Given the description of an element on the screen output the (x, y) to click on. 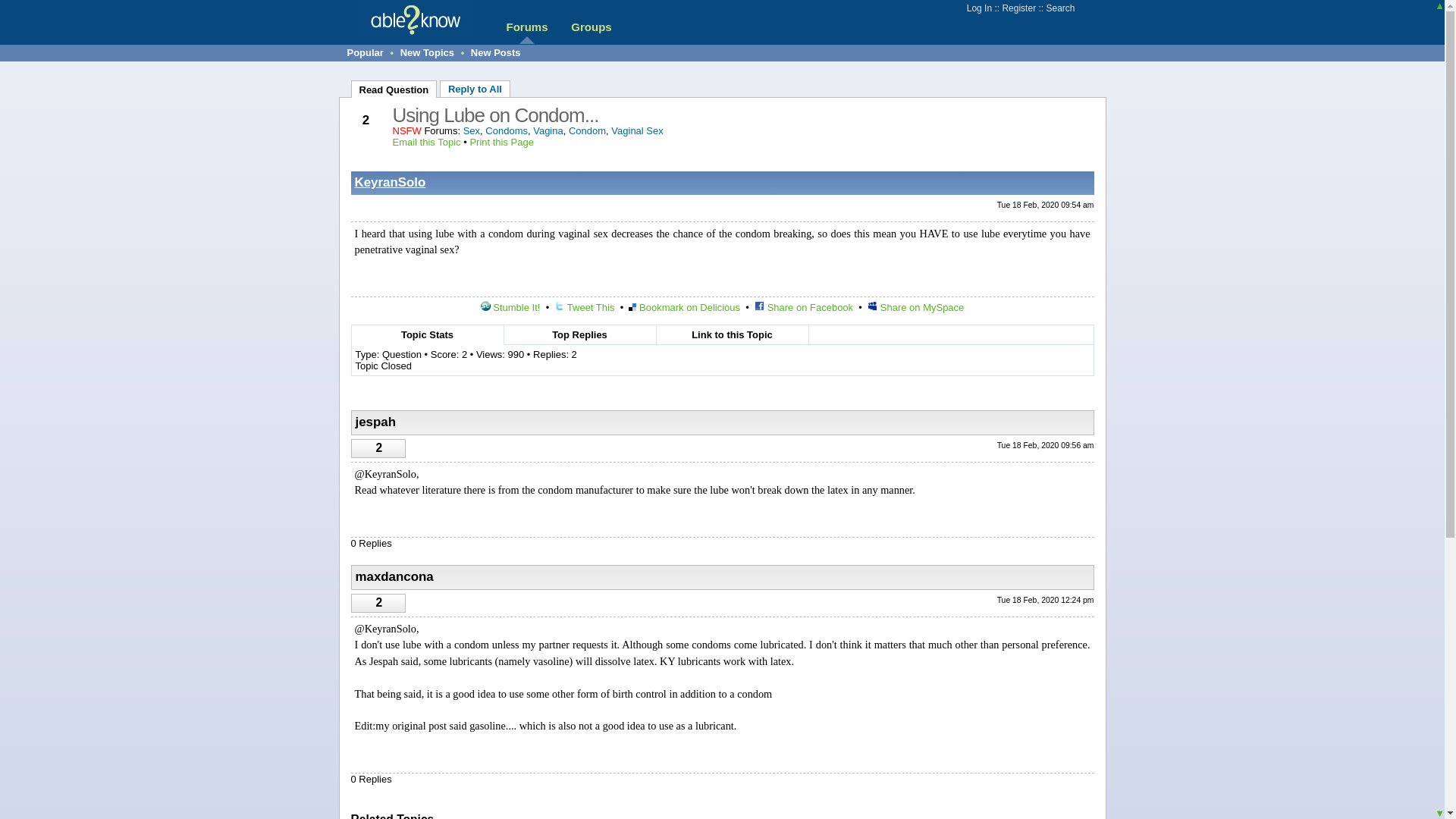
Share on MySpace (915, 307)
Reply to All (475, 88)
Vagina Forum (547, 130)
KeyranSolo (390, 182)
Register (1018, 8)
Tweet This (584, 307)
Condoms (505, 130)
Sex (471, 130)
Print this Page (501, 142)
Log In (978, 8)
